Given the description of an element on the screen output the (x, y) to click on. 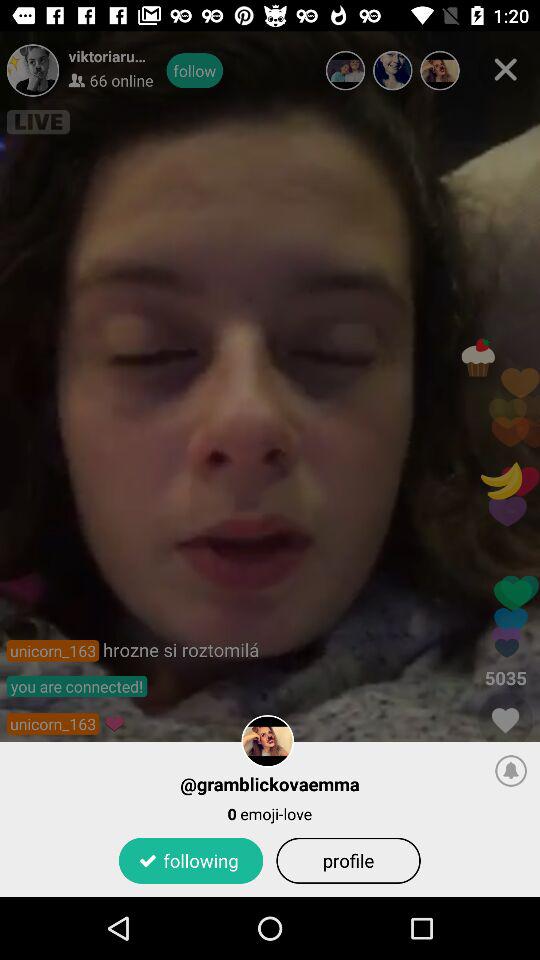
open the following (190, 860)
